Given the description of an element on the screen output the (x, y) to click on. 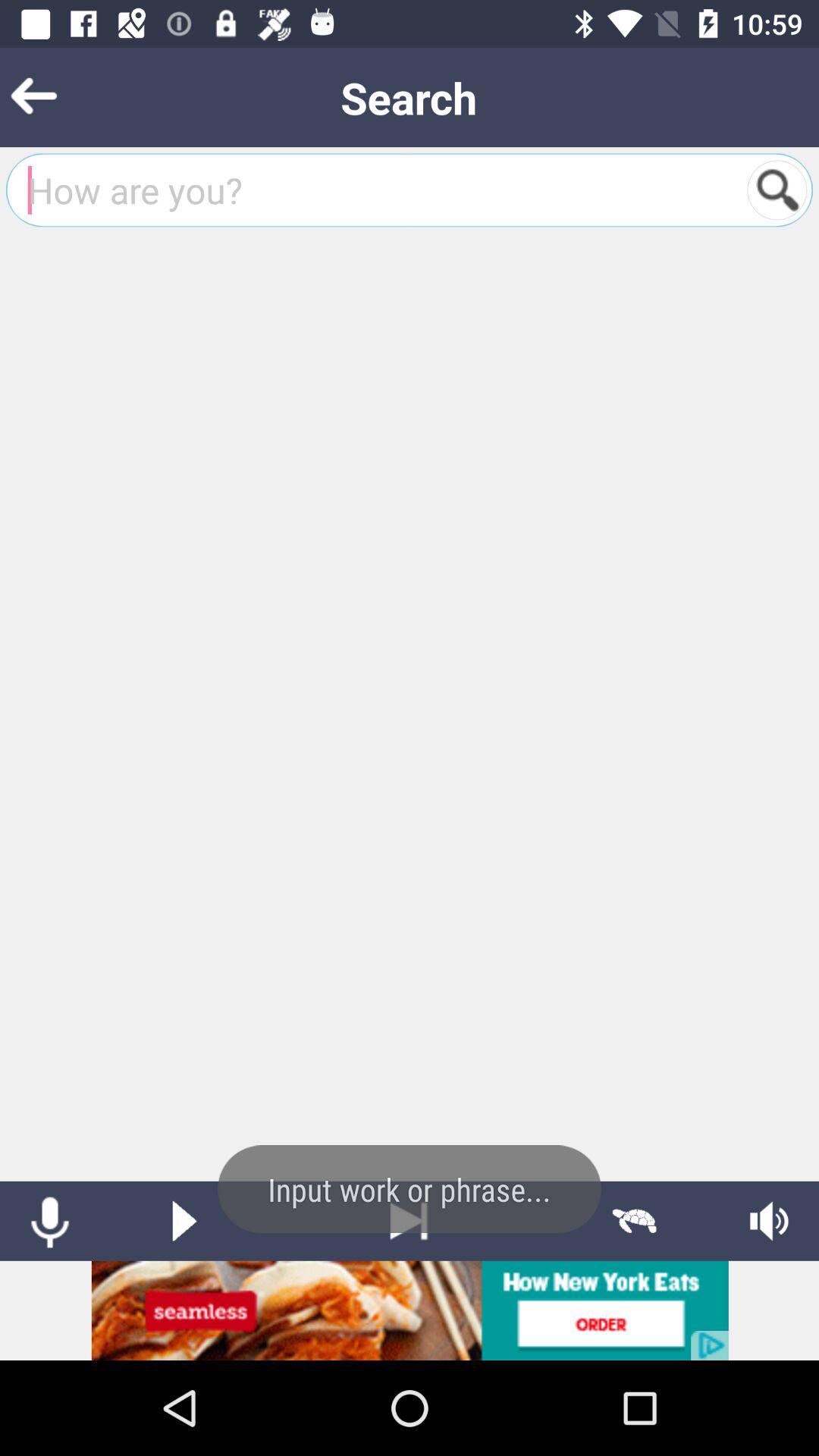
go to next option (408, 1220)
